Given the description of an element on the screen output the (x, y) to click on. 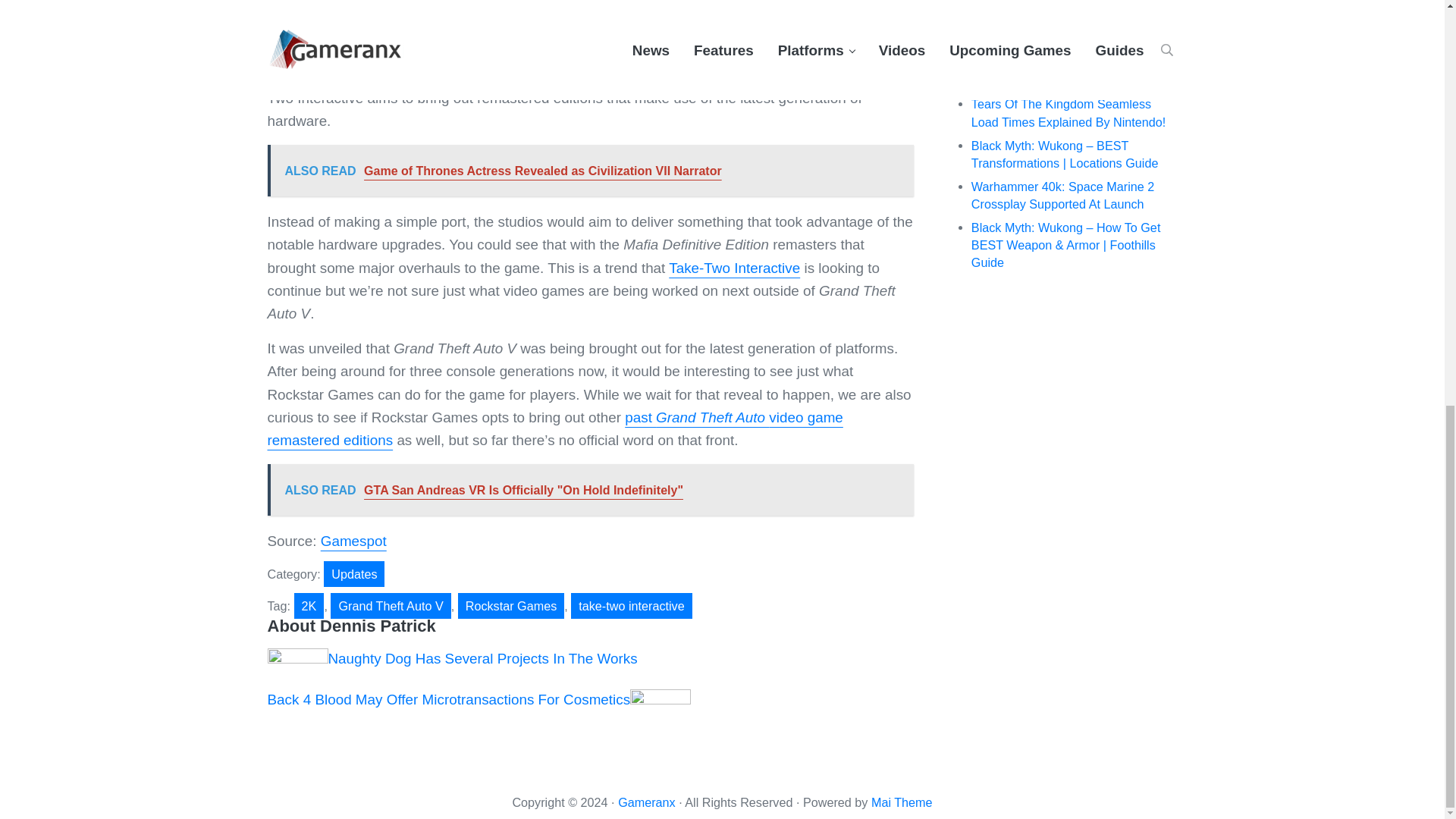
2K (309, 605)
Updates (353, 574)
Rockstar Games (511, 605)
Take-Two Interactive (733, 268)
take-two interactive (630, 605)
Gameranx (646, 802)
